Given the description of an element on the screen output the (x, y) to click on. 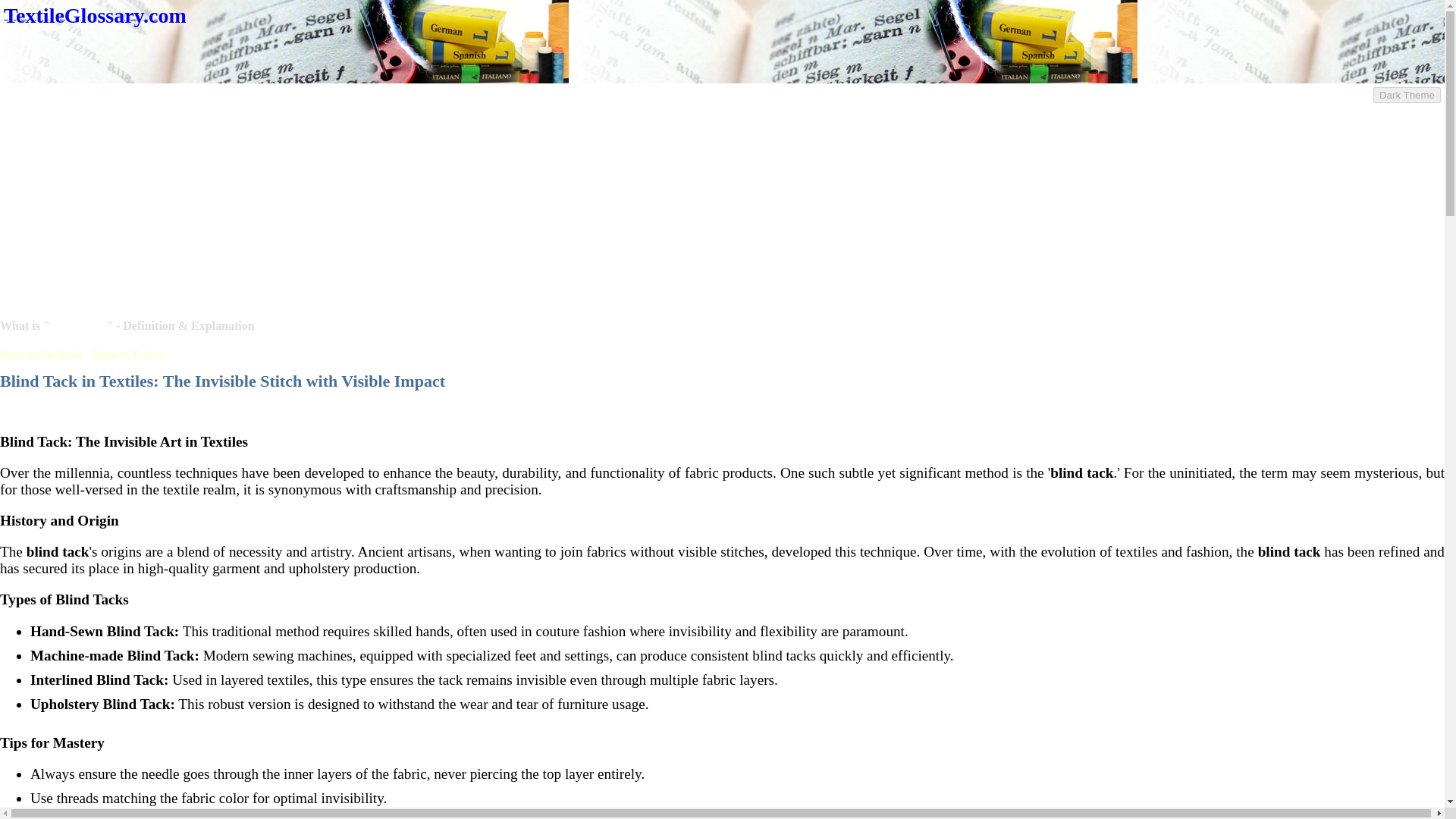
Blind Tack: The Invisible Art in Textiles (123, 441)
TextileGlossary.com (95, 14)
History and Origin (59, 520)
Tips for Mastery (52, 742)
Types of Blind Tacks (64, 599)
Share on Facebook (41, 353)
Dark Theme (1407, 94)
Share on Twitter (126, 353)
